Given the description of an element on the screen output the (x, y) to click on. 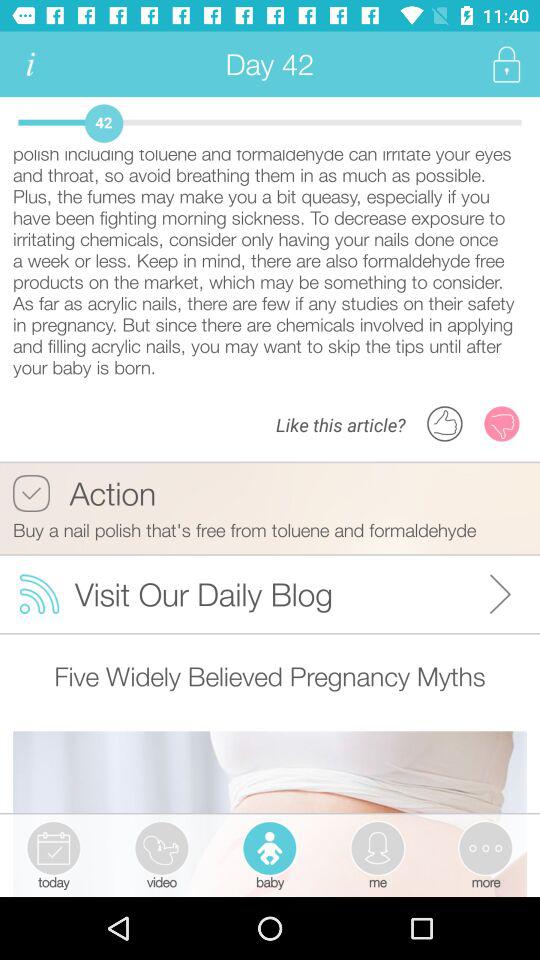
launch the icon next to day 42 app (30, 63)
